Given the description of an element on the screen output the (x, y) to click on. 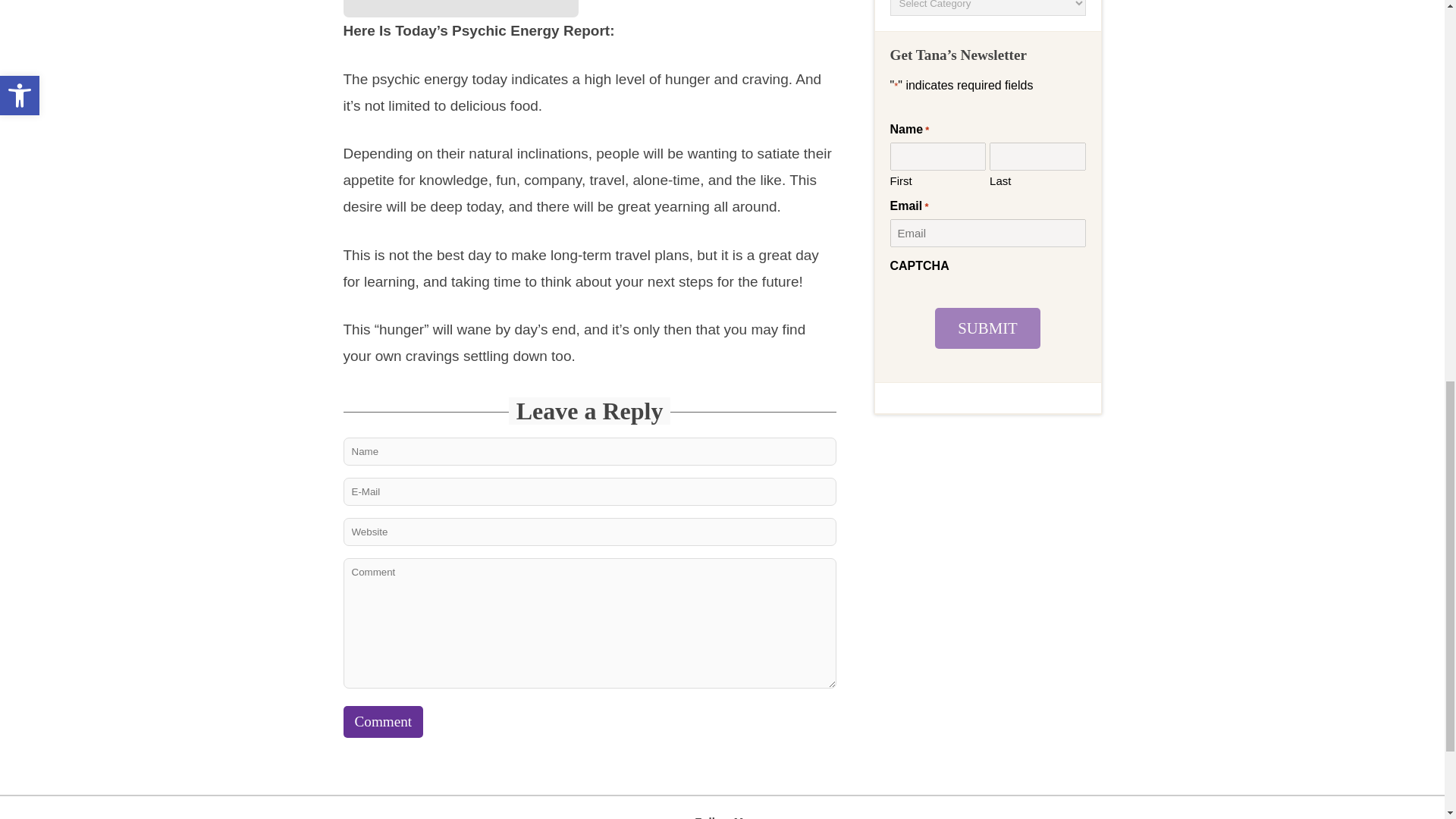
Submit (987, 327)
Submit (987, 327)
Comment (382, 721)
Comment (382, 721)
